Given the description of an element on the screen output the (x, y) to click on. 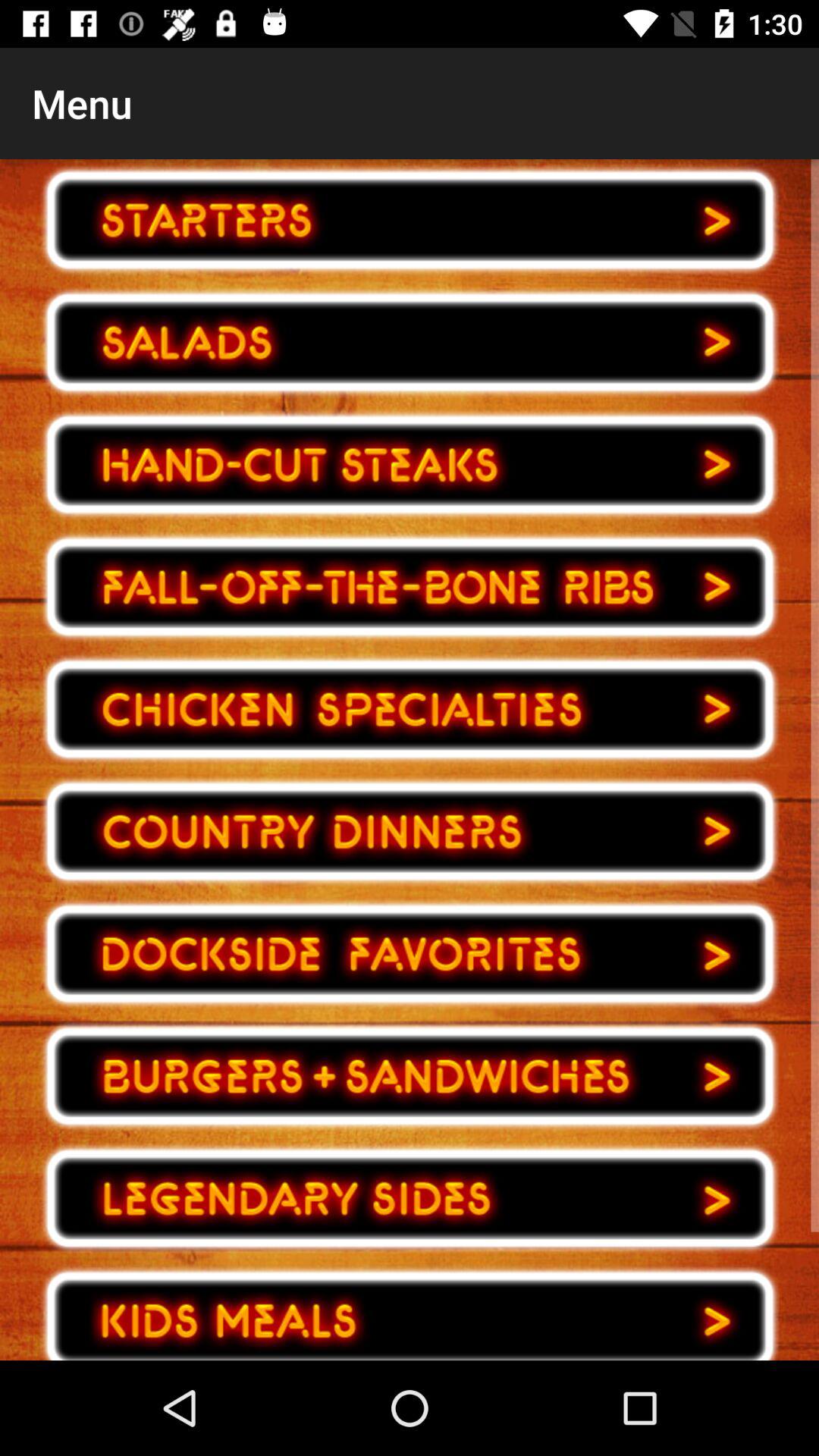
buttons to next page (409, 953)
